Given the description of an element on the screen output the (x, y) to click on. 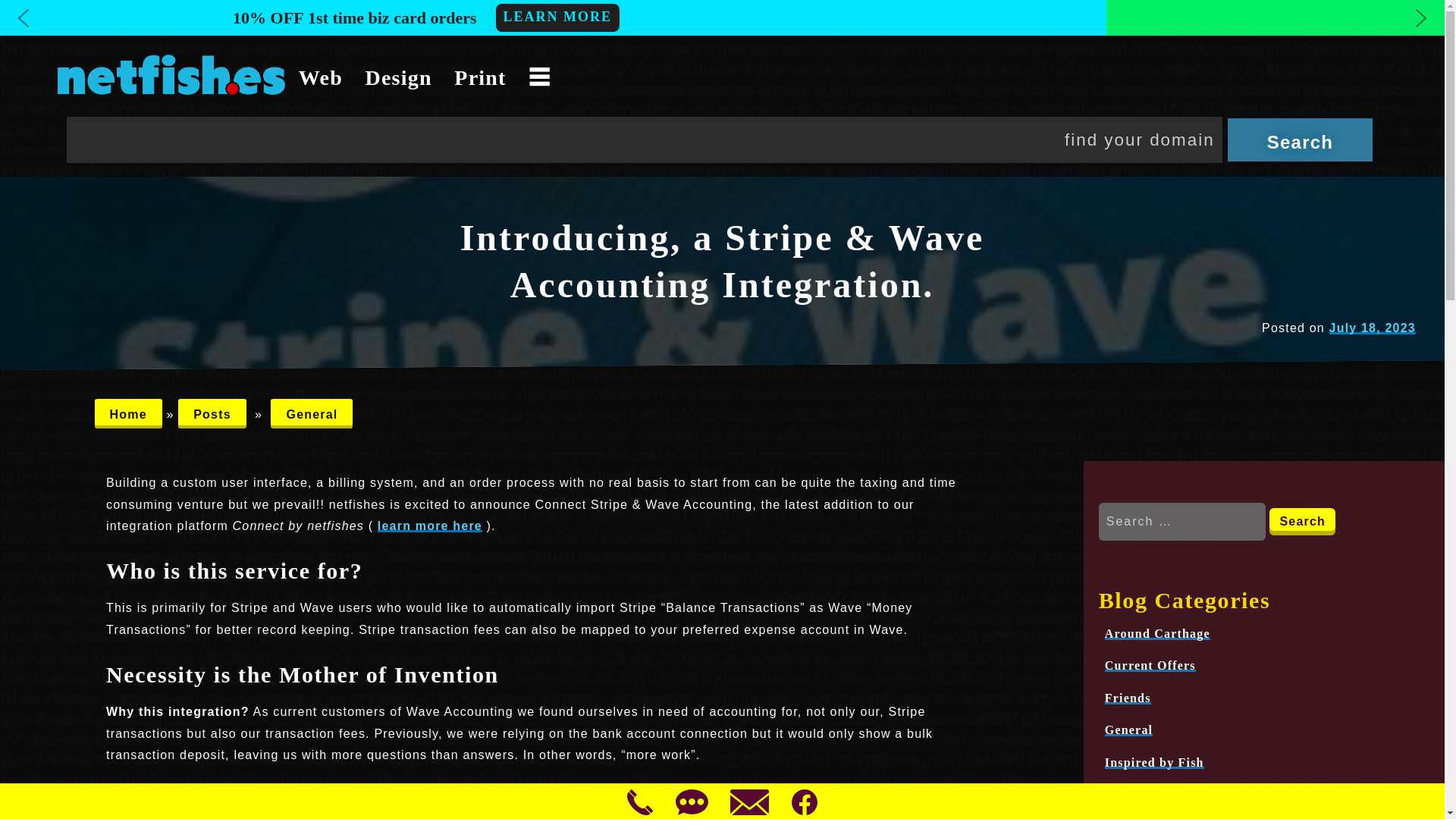
General (311, 413)
Design (398, 77)
Print (479, 77)
LEARN MORE (558, 17)
Home (127, 413)
Posts (211, 413)
Search (1302, 521)
July 18, 2023 (1372, 327)
search (1300, 139)
Web (320, 77)
Search (1302, 521)
search (1300, 139)
learn more here (429, 525)
